Given the description of an element on the screen output the (x, y) to click on. 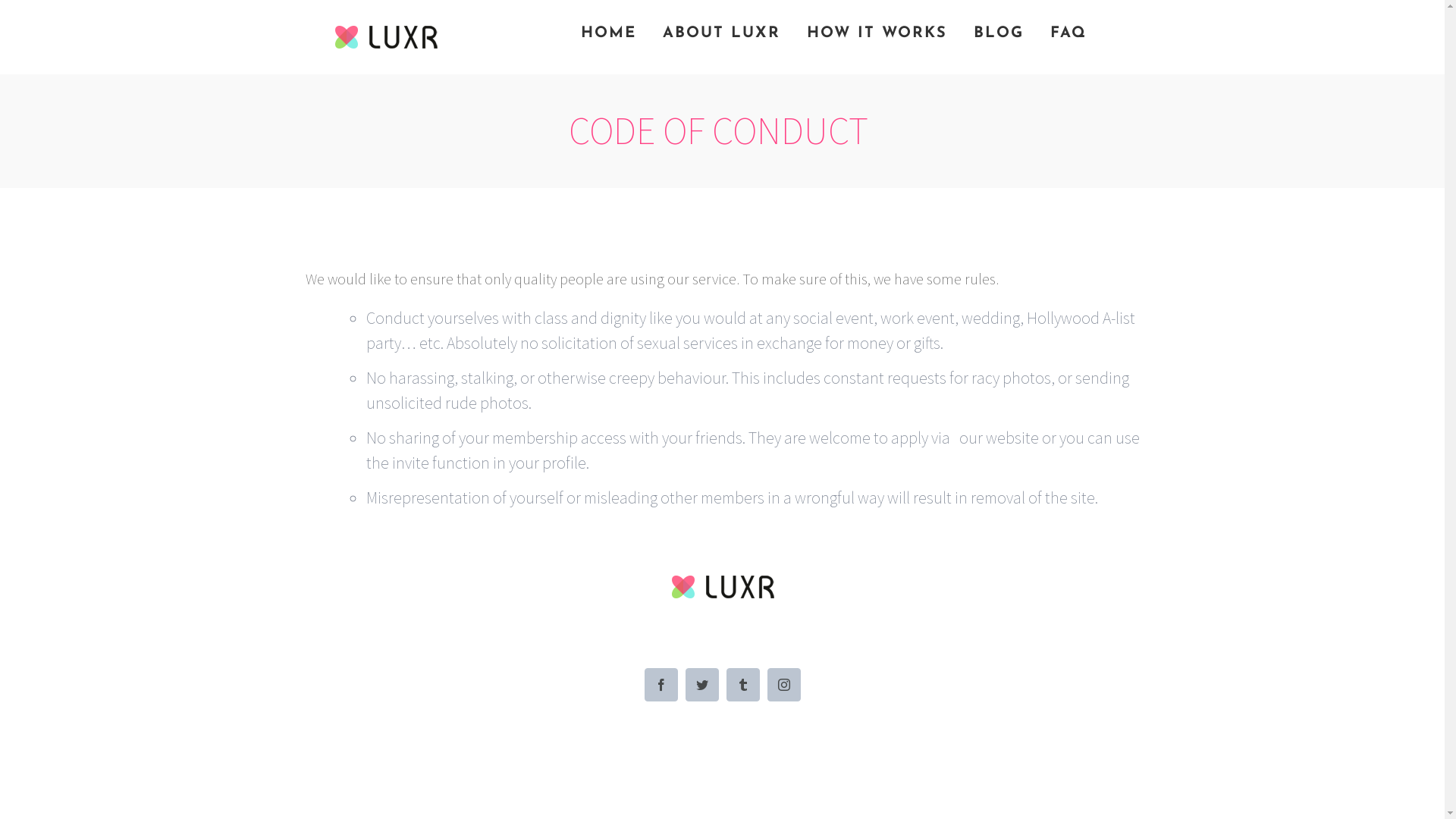
Instagram Element type: text (783, 684)
ABOUT LUXR Element type: text (721, 31)
Tumblr Element type: text (742, 684)
HOW IT WORKS Element type: text (876, 31)
FAQ Element type: text (1067, 31)
BLOG Element type: text (998, 31)
luxr-logo Element type: hover (722, 586)
Twitter Element type: text (701, 684)
Facebook Element type: text (660, 684)
HOME Element type: text (608, 31)
